Given the description of an element on the screen output the (x, y) to click on. 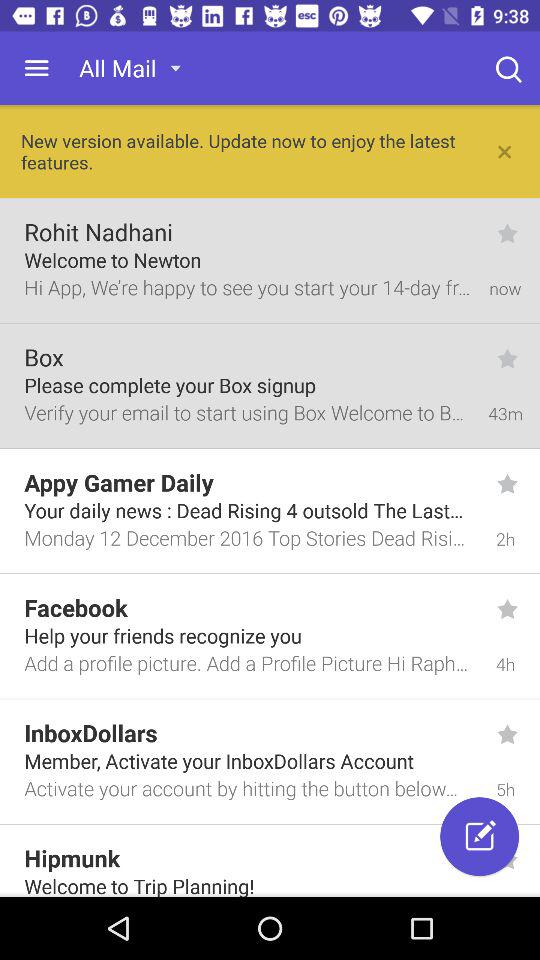
click to close tab (505, 151)
